Given the description of an element on the screen output the (x, y) to click on. 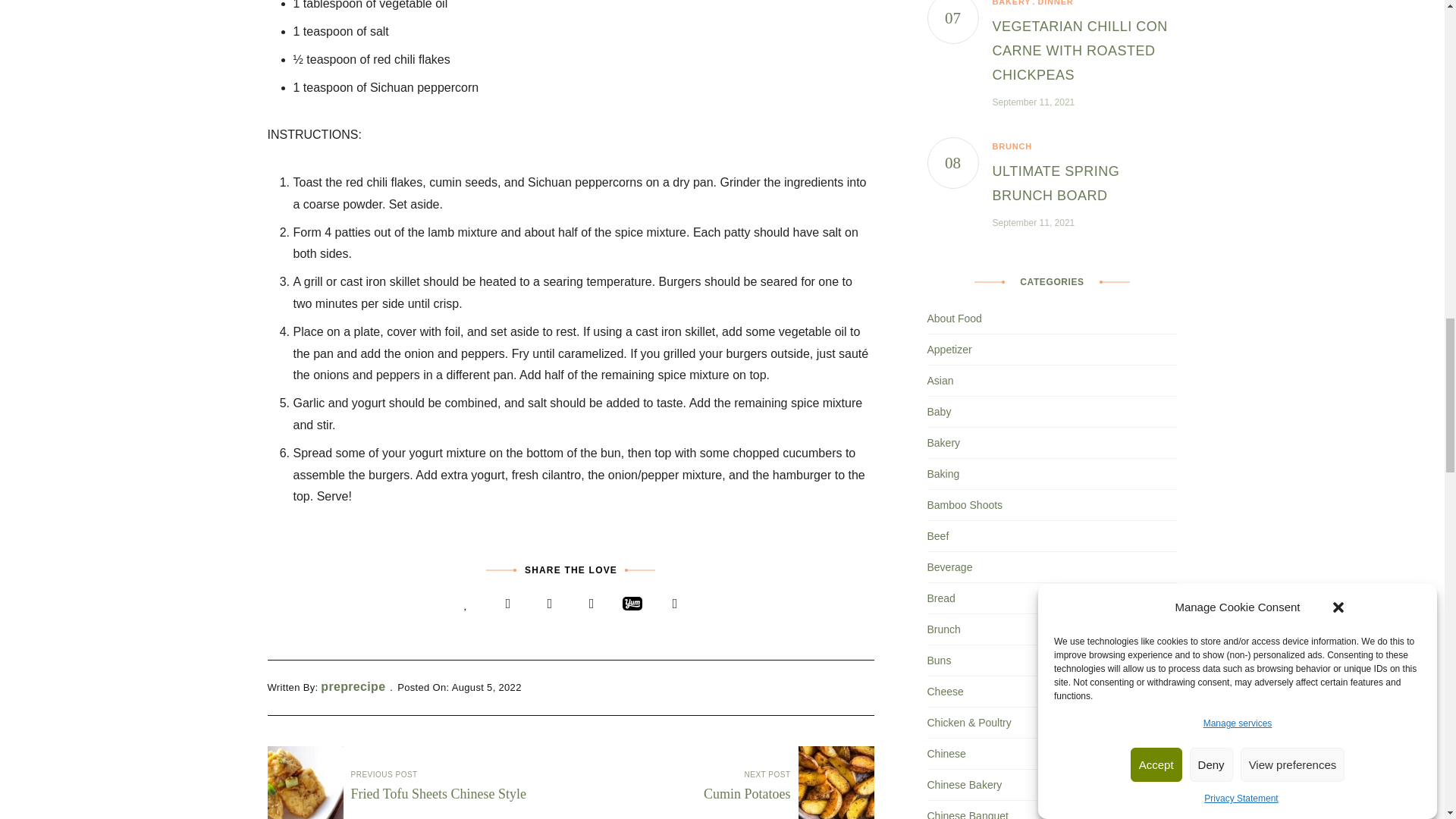
Like (465, 603)
Pinterest (591, 603)
WhatsApp (675, 603)
Twitter (549, 603)
Yummly (632, 602)
Facebook (508, 603)
